Given the description of an element on the screen output the (x, y) to click on. 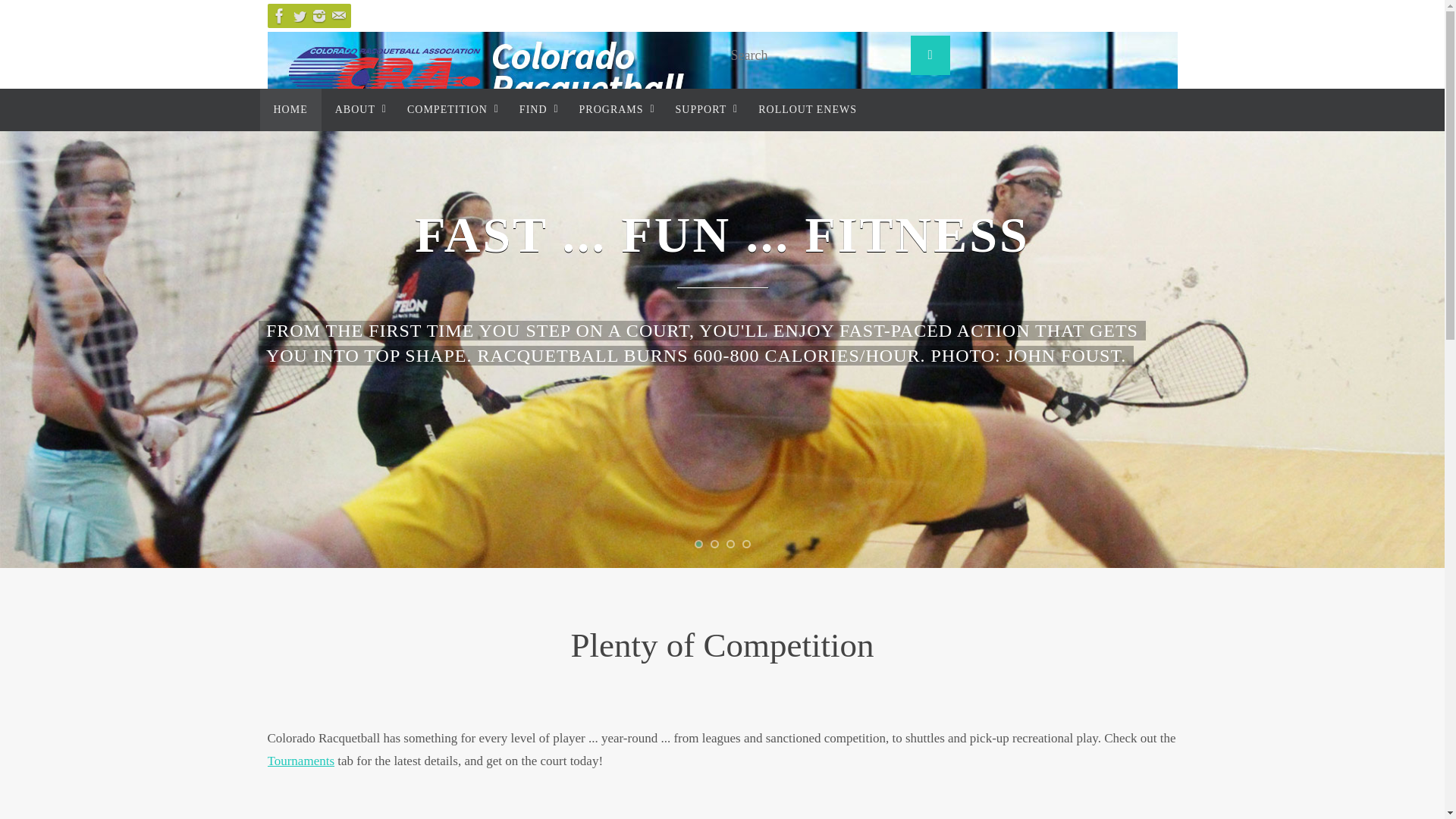
Facebook (278, 15)
FIND (535, 109)
Instagram (317, 15)
Twitter (298, 15)
ABOUT (357, 109)
Twitter (1428, 365)
Instagram (1428, 389)
Search (929, 55)
Contact (338, 15)
PROGRAMS (614, 109)
HOME (289, 109)
COMPETITION (449, 109)
Colorado Racquetball Association (721, 88)
